Given the description of an element on the screen output the (x, y) to click on. 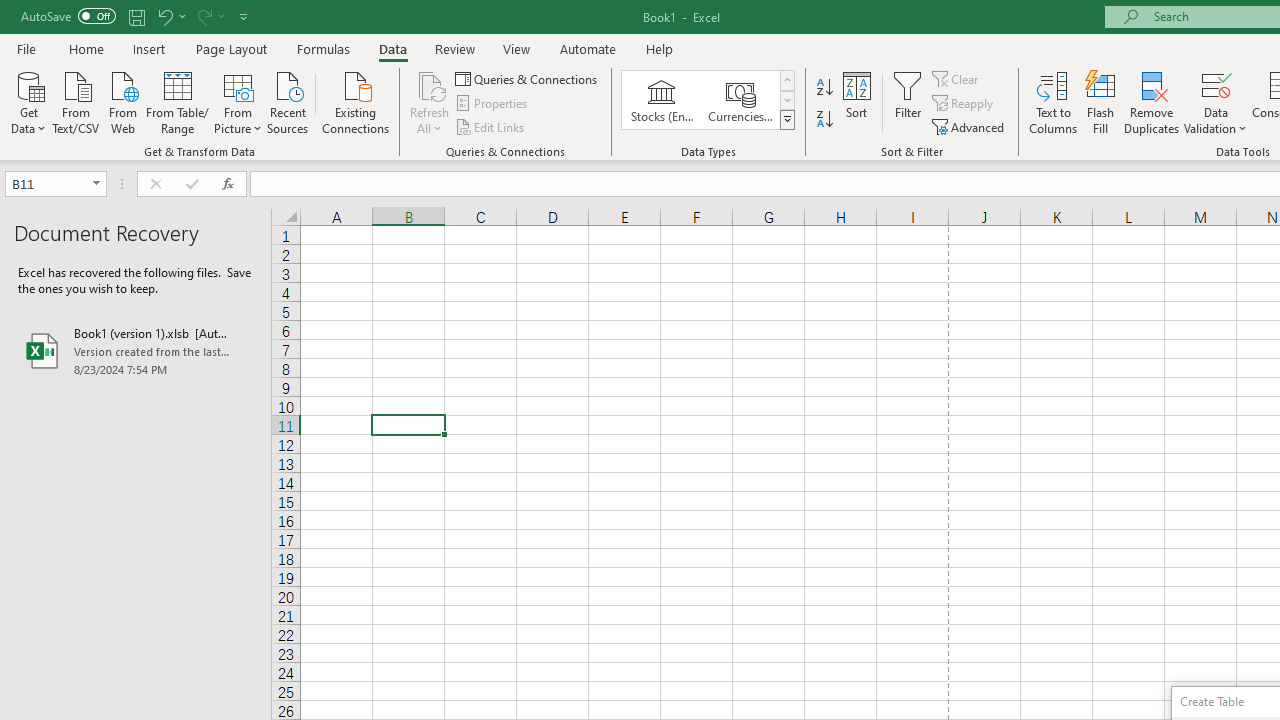
Advanced... (970, 126)
From Picture (238, 101)
Stocks (English) (662, 100)
Sort A to Z (824, 87)
Queries & Connections (527, 78)
Properties (492, 103)
Edit Links (491, 126)
From Table/Range (177, 101)
